Given the description of an element on the screen output the (x, y) to click on. 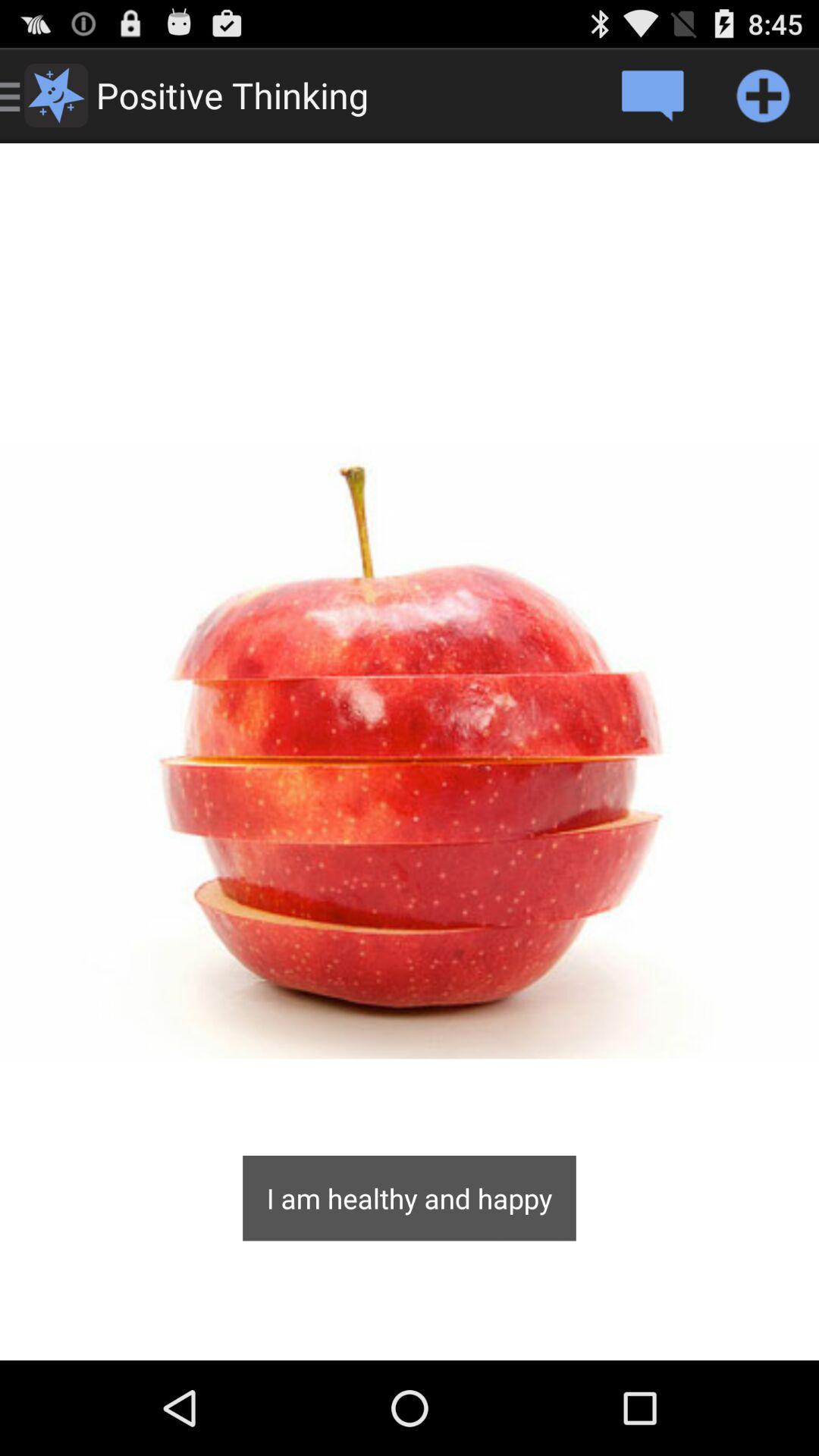
comments (651, 95)
